Given the description of an element on the screen output the (x, y) to click on. 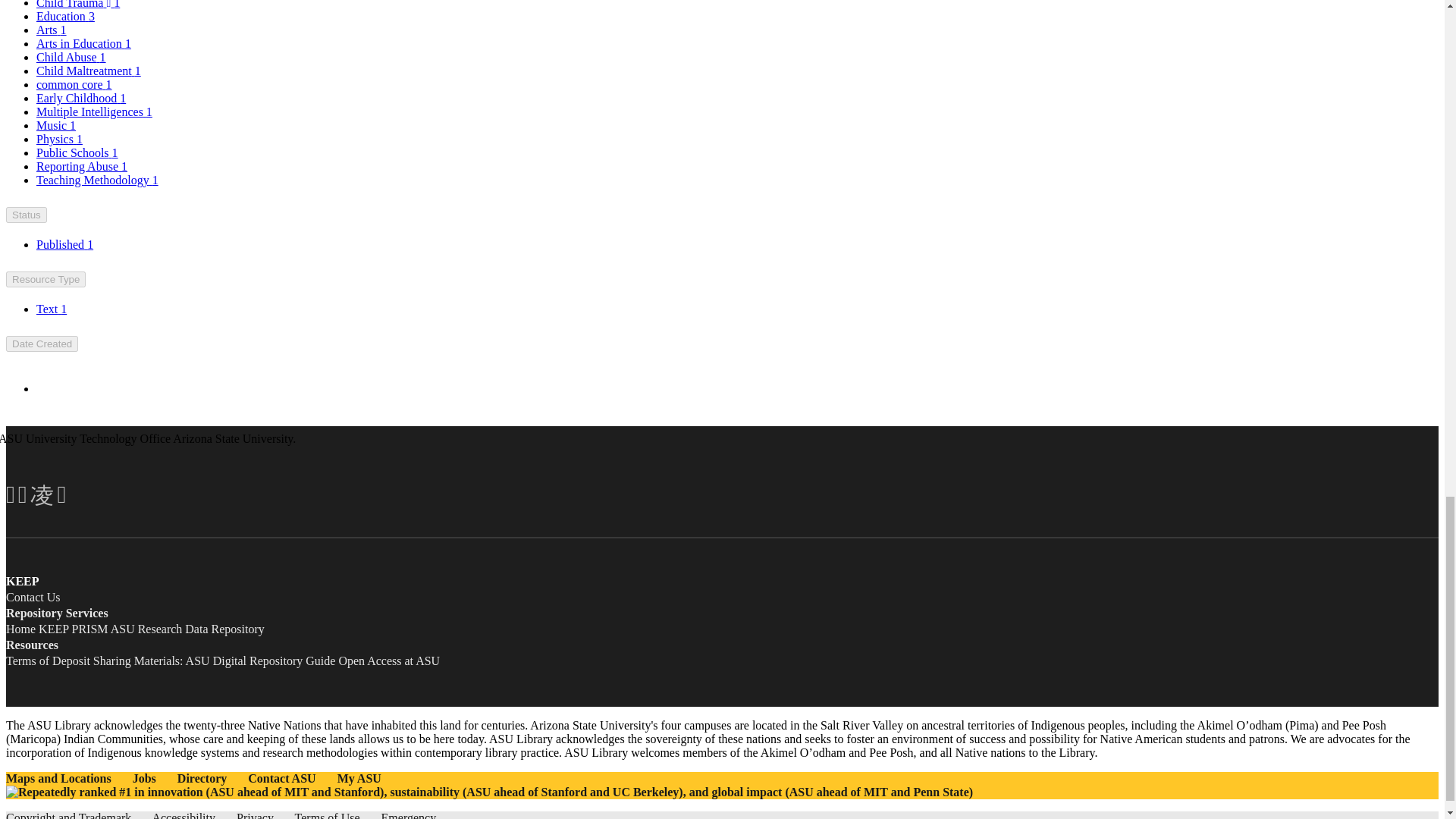
ASU Library Twitter (22, 494)
ASU Library Facebook (9, 491)
ASU Library Twitter (22, 491)
